Given the description of an element on the screen output the (x, y) to click on. 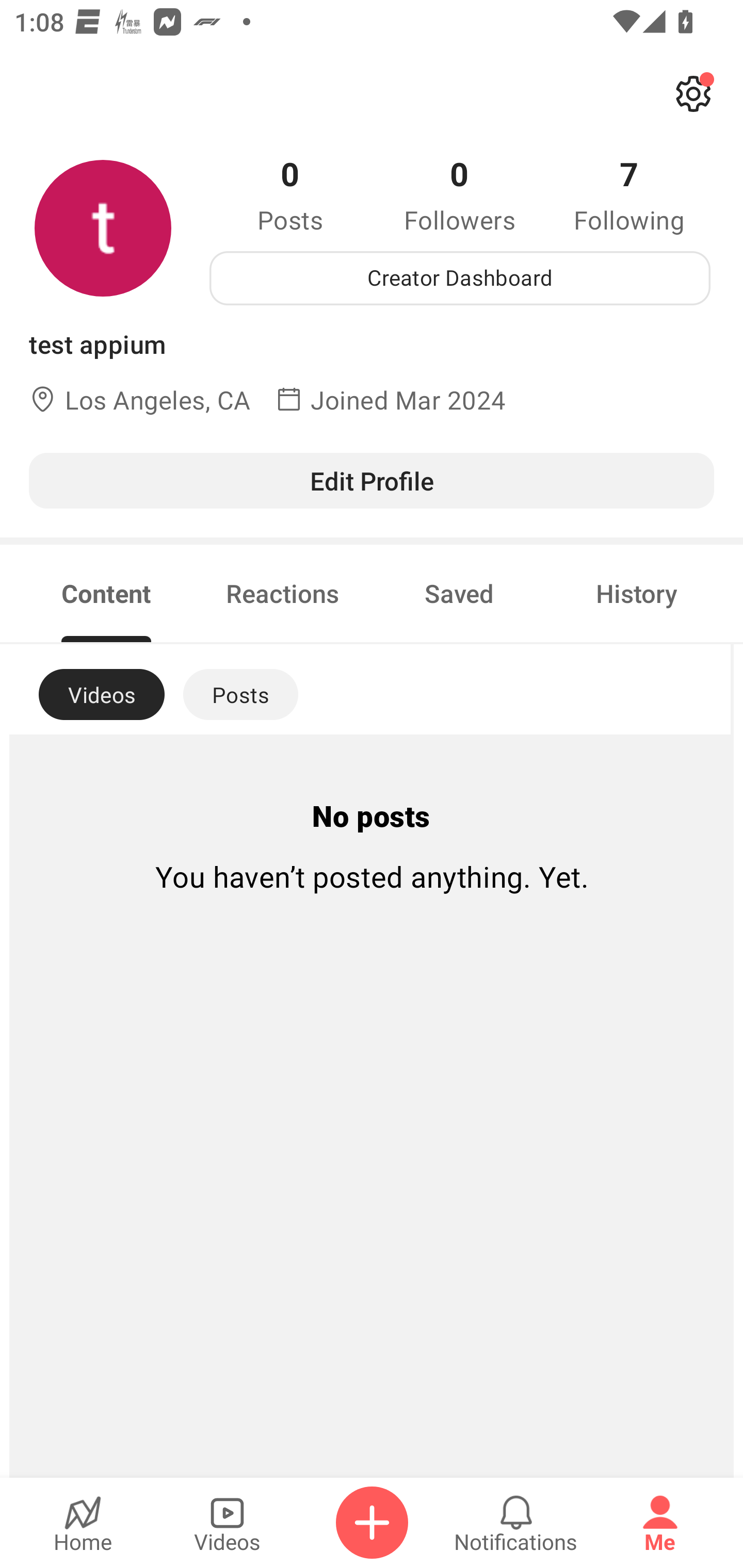
0 Followers (459, 194)
7 Following (629, 194)
Creator Dashboard (459, 277)
Edit Profile (371, 480)
Reactions (282, 593)
Saved (459, 593)
History (636, 593)
Posts (240, 694)
Home (83, 1522)
Videos (227, 1522)
Notifications (516, 1522)
